Given the description of an element on the screen output the (x, y) to click on. 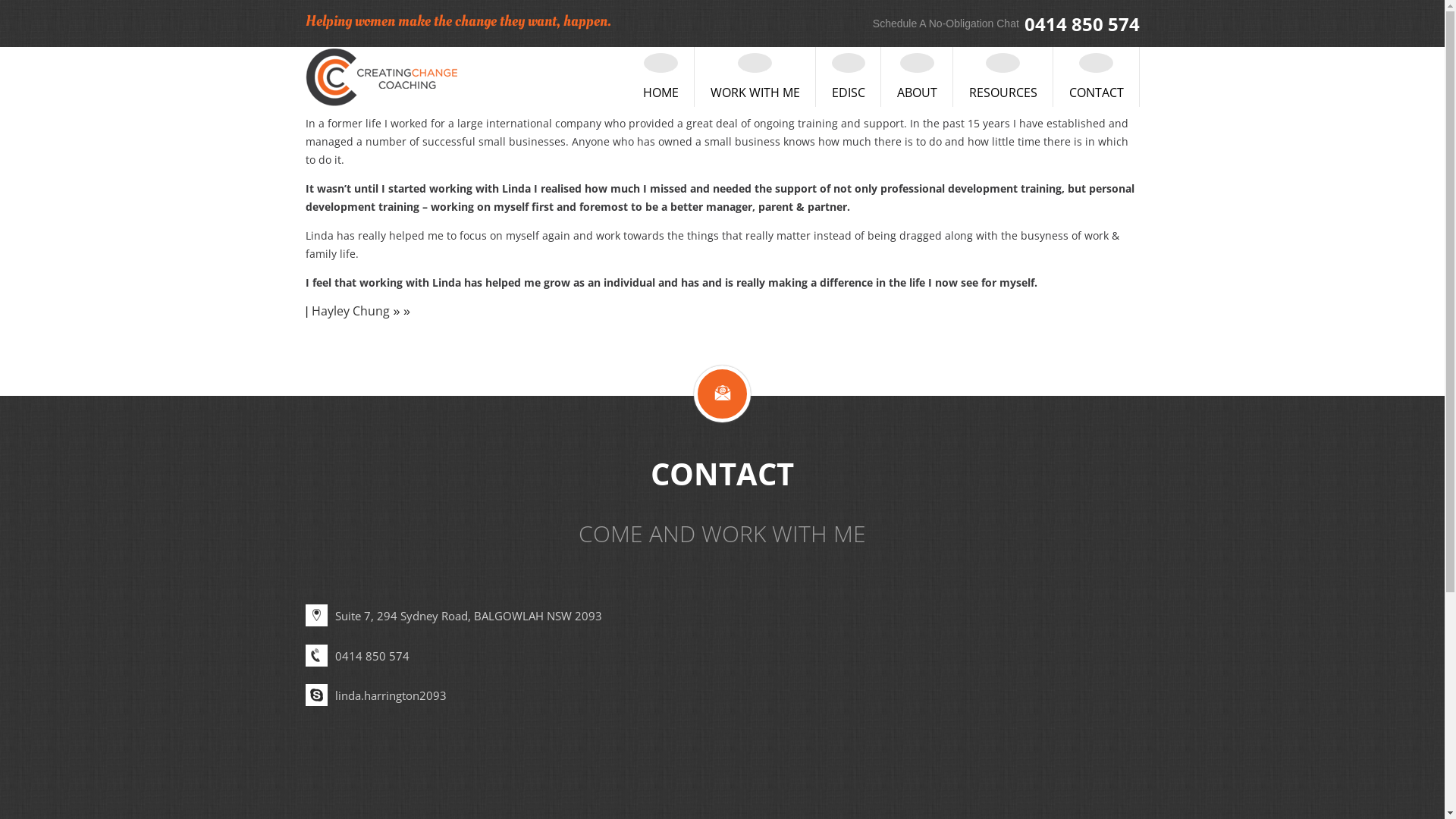
0414 850 574 Element type: text (372, 655)
HOME Element type: text (660, 76)
linda.harrington2093 Element type: text (390, 694)
0414 850 574 Element type: text (1081, 23)
CONTACT Element type: text (1096, 76)
Suite 7, 294 Sydney Road, BALGOWLAH NSW 2093 Element type: text (468, 615)
RESOURCES Element type: text (1003, 76)
Hayley Chung Element type: text (350, 310)
ABOUT Element type: text (916, 76)
WORK WITH ME Element type: text (754, 76)
EDISC Element type: text (847, 76)
